Given the description of an element on the screen output the (x, y) to click on. 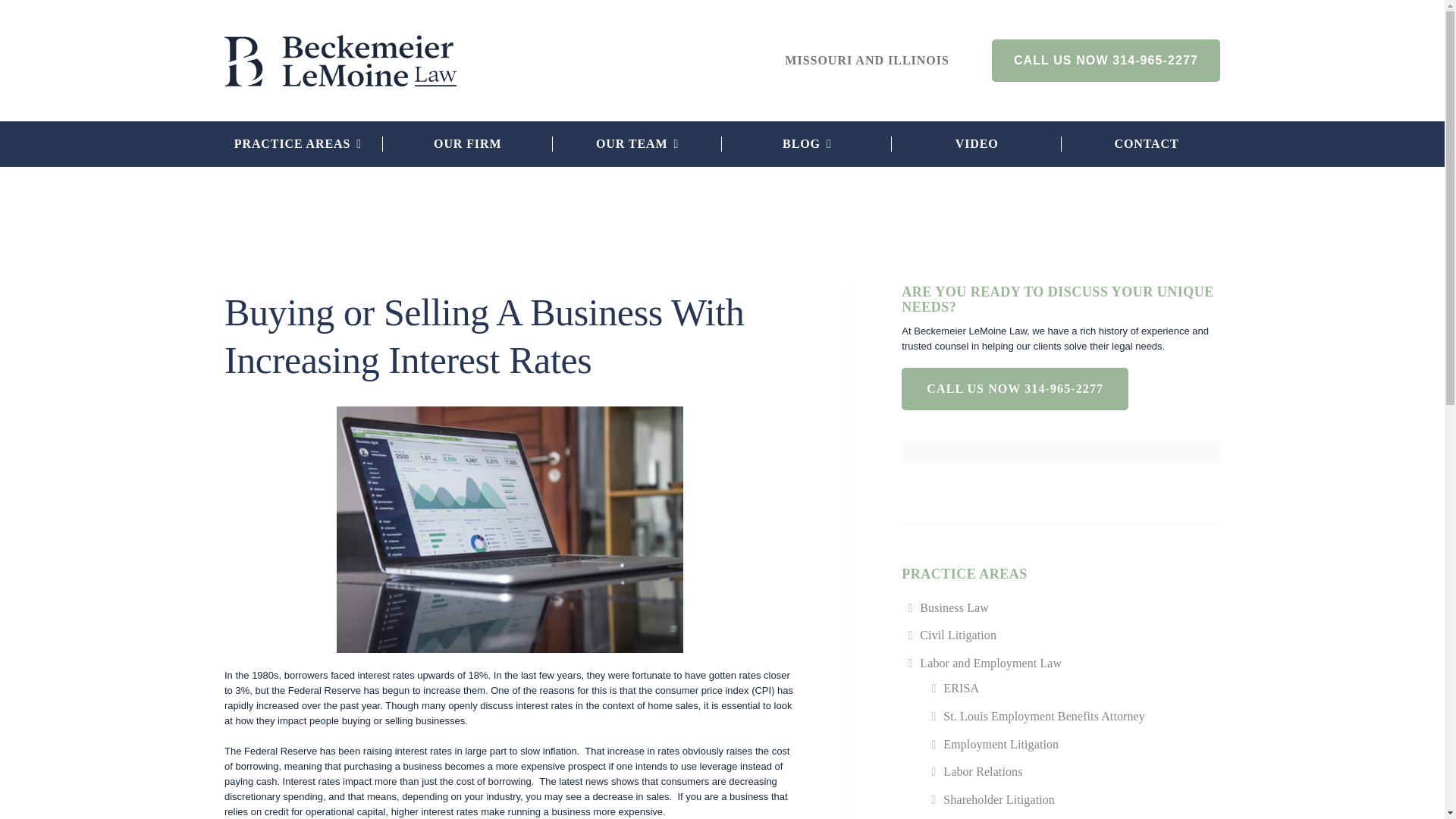
OUR FIRM (467, 144)
CALL US NOW 314-965-2277 (1105, 60)
PRACTICE AREAS (297, 144)
BLOG (806, 144)
OUR TEAM (637, 144)
